Given the description of an element on the screen output the (x, y) to click on. 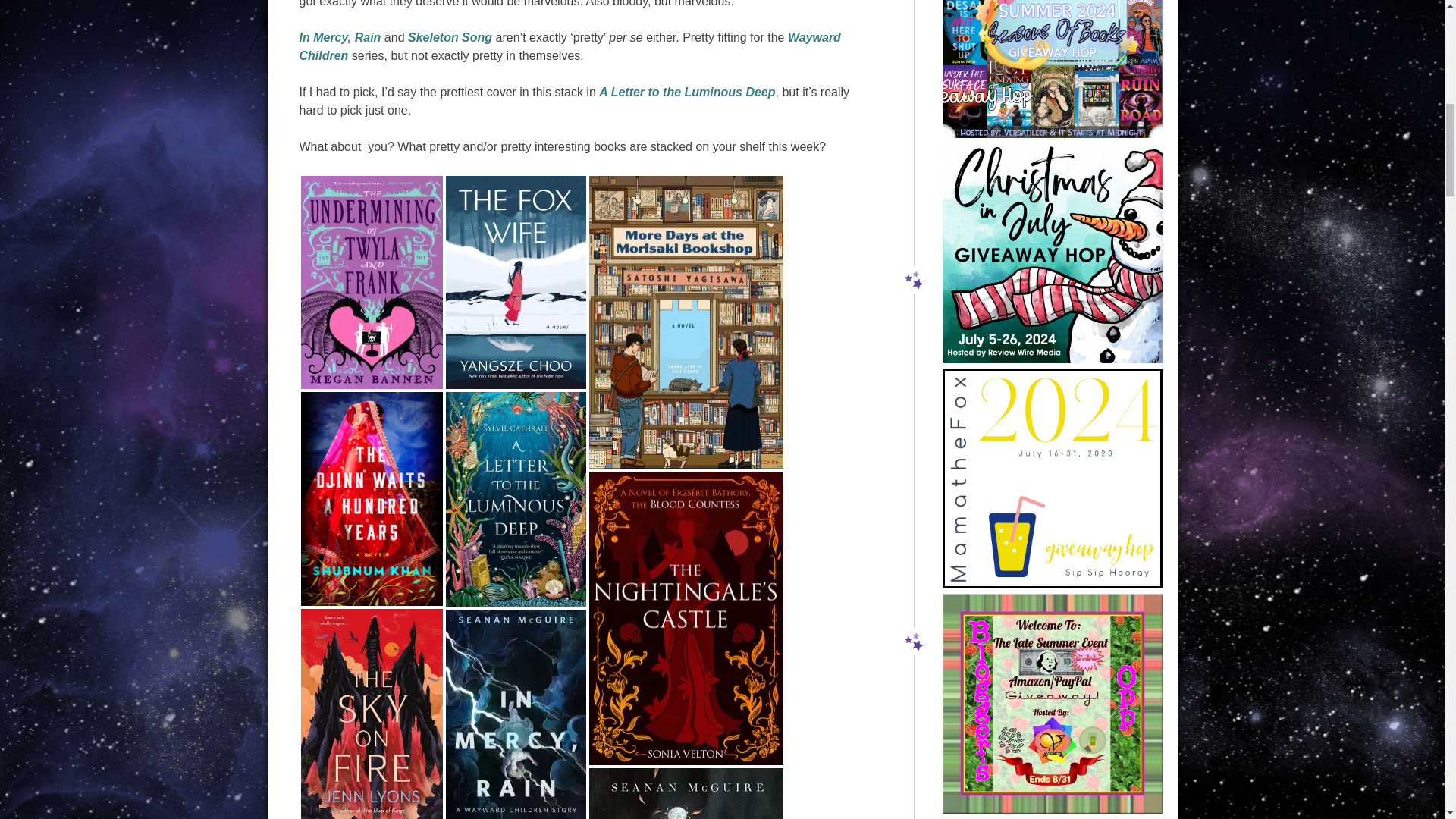
A Letter to the Luminous Deep (686, 91)
In Mercy, Rain (339, 37)
Skeleton Song (449, 37)
Wayward Children (569, 46)
skeleton song by seanan mcguire (685, 793)
